Given the description of an element on the screen output the (x, y) to click on. 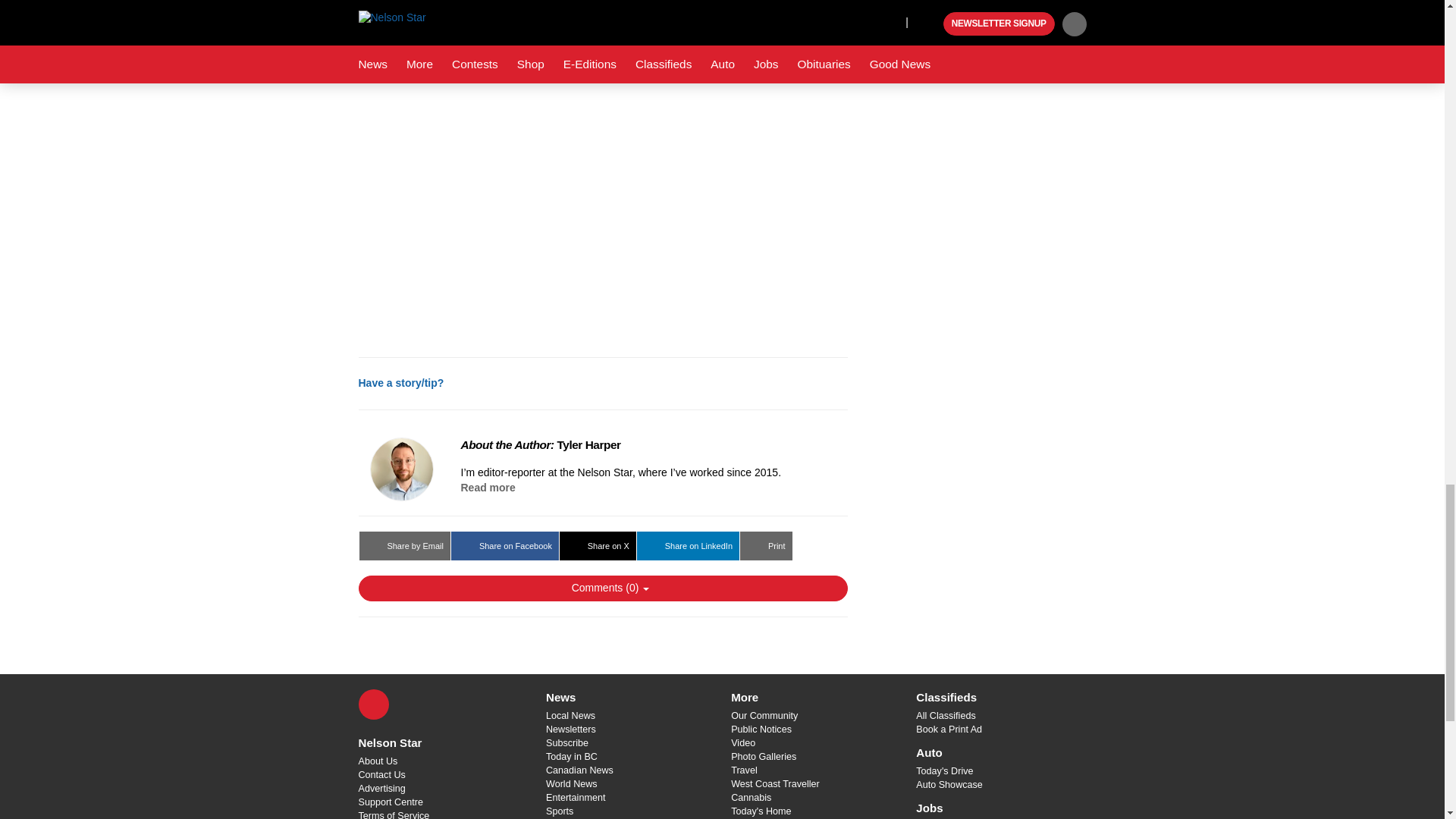
X (373, 704)
Show Comments (602, 588)
